Given the description of an element on the screen output the (x, y) to click on. 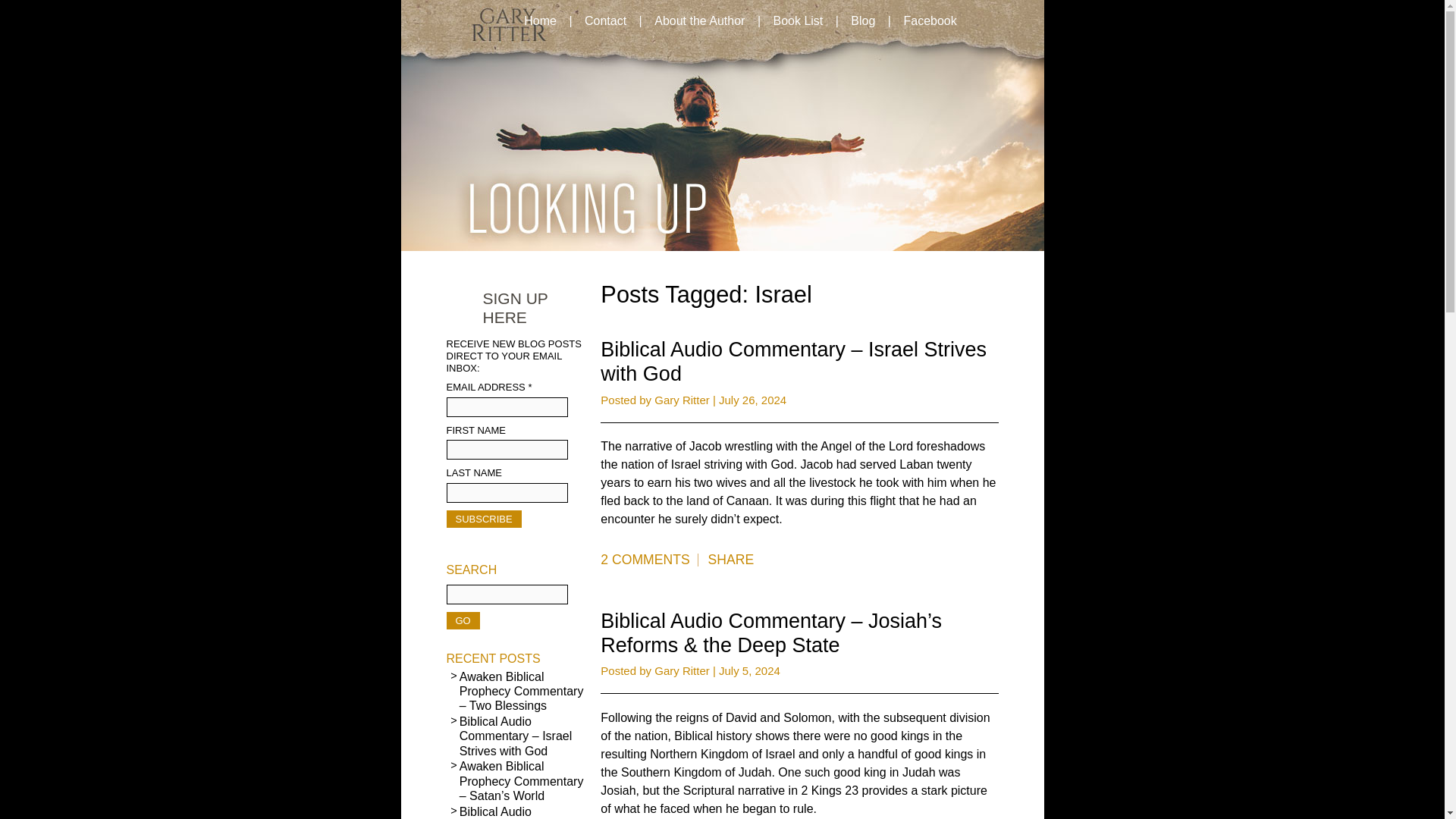
Book List (796, 20)
Home (540, 20)
Subscribe (483, 518)
SHARE (730, 560)
Contact (604, 20)
Facebook (929, 20)
Blog (862, 20)
About the Author (699, 20)
Go (462, 620)
2 COMMENTS (648, 560)
